Given the description of an element on the screen output the (x, y) to click on. 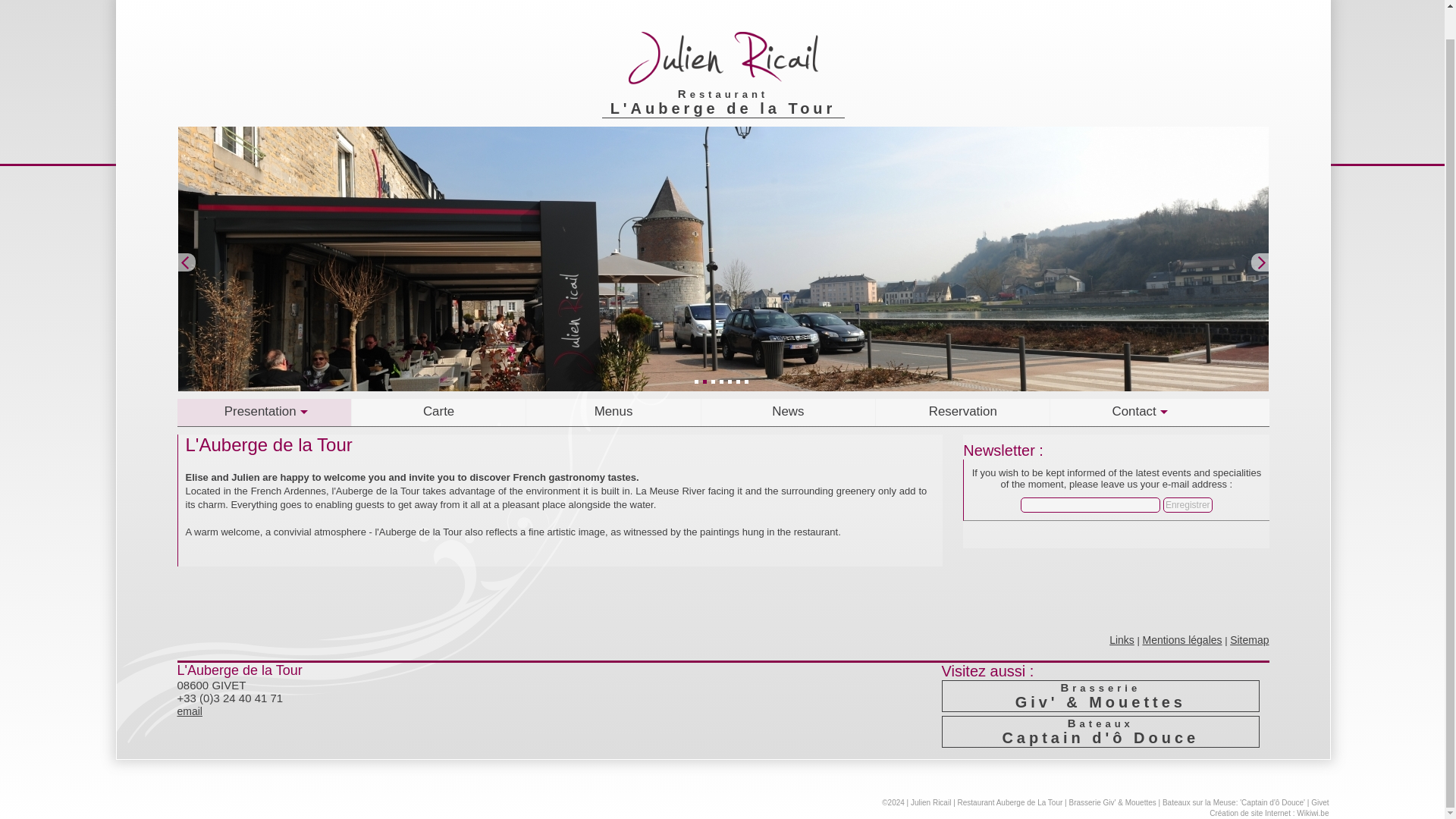
Reservation (962, 411)
Menus (612, 411)
Presentation (264, 411)
Carte (438, 411)
Restaurant Auberge de La Tour (1010, 802)
Links (1121, 639)
Contact (1136, 411)
News (788, 411)
Julien Ricail (930, 802)
email (189, 711)
Sitemap (1249, 639)
Enregistrer (1187, 504)
Enregistrer (1187, 504)
